Given the description of an element on the screen output the (x, y) to click on. 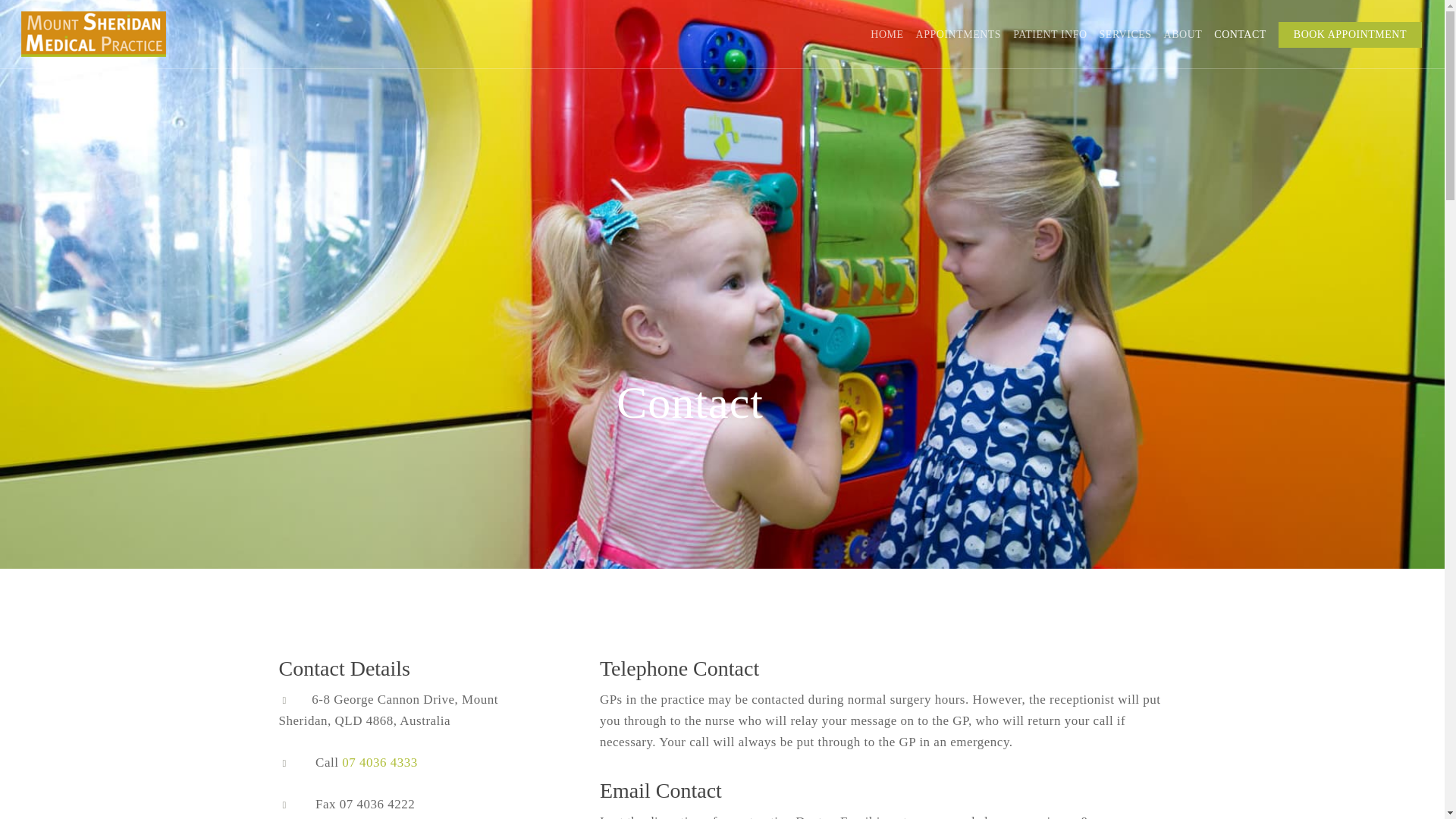
SERVICES (1125, 34)
PATIENT INFO (1050, 34)
BOOK APPOINTMENT (1350, 34)
HOME (886, 34)
07 4036 4333 (379, 762)
ABOUT (1182, 34)
CONTACT (1240, 34)
APPOINTMENTS (958, 34)
